Given the description of an element on the screen output the (x, y) to click on. 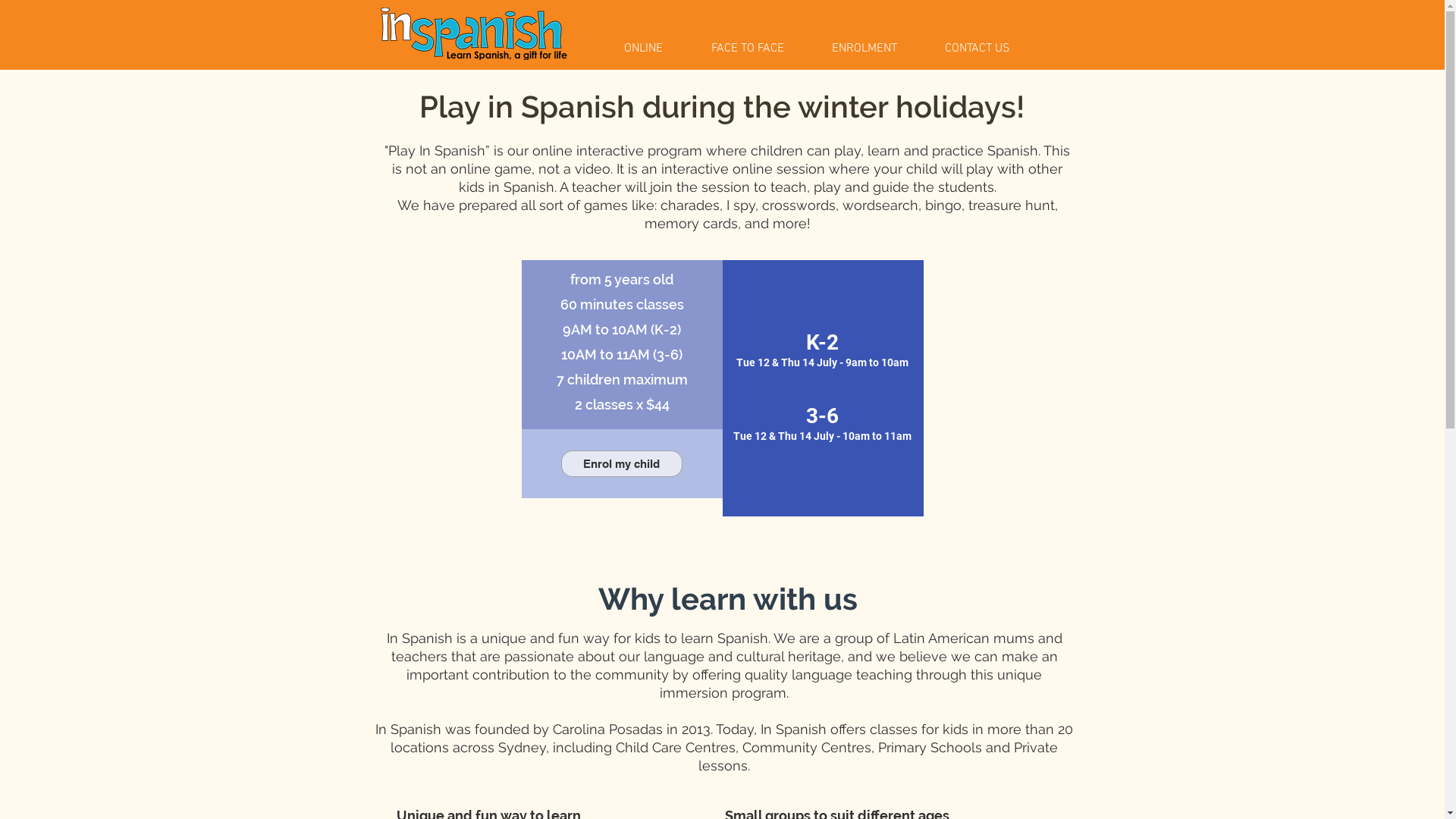
ENROLMENT Element type: text (876, 48)
FACE TO FACE Element type: text (759, 48)
ONLINE Element type: text (655, 48)
Enrol my child Element type: text (621, 463)
CONTACT US Element type: text (988, 48)
